Given the description of an element on the screen output the (x, y) to click on. 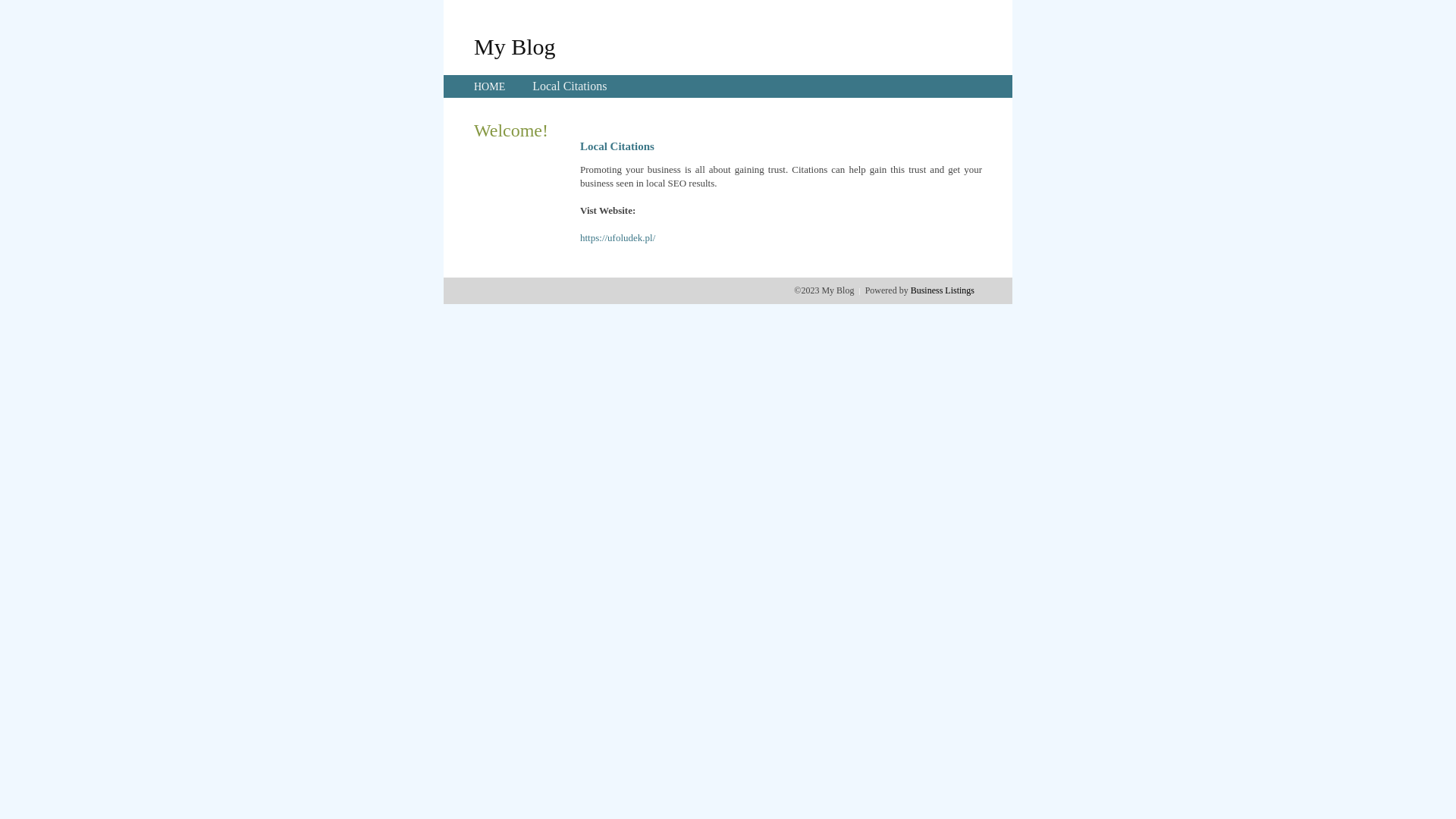
https://ufoludek.pl/ Element type: text (617, 237)
My Blog Element type: text (514, 46)
Business Listings Element type: text (942, 290)
HOME Element type: text (489, 86)
Local Citations Element type: text (569, 85)
